Given the description of an element on the screen output the (x, y) to click on. 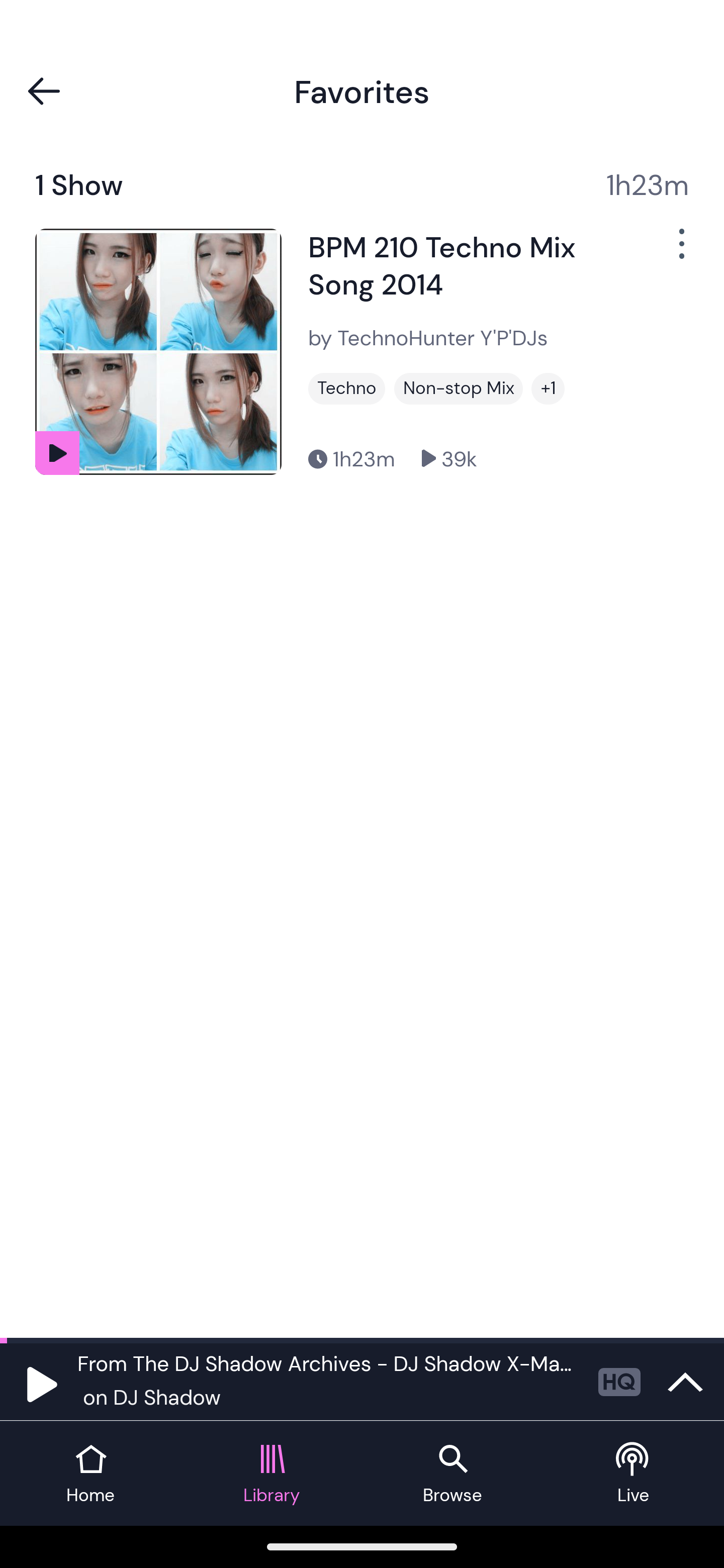
Show Options Menu Button (679, 251)
Techno (346, 388)
Non-stop Mix (457, 388)
Home tab Home (90, 1473)
Library tab Library (271, 1473)
Browse tab Browse (452, 1473)
Live tab Live (633, 1473)
